Given the description of an element on the screen output the (x, y) to click on. 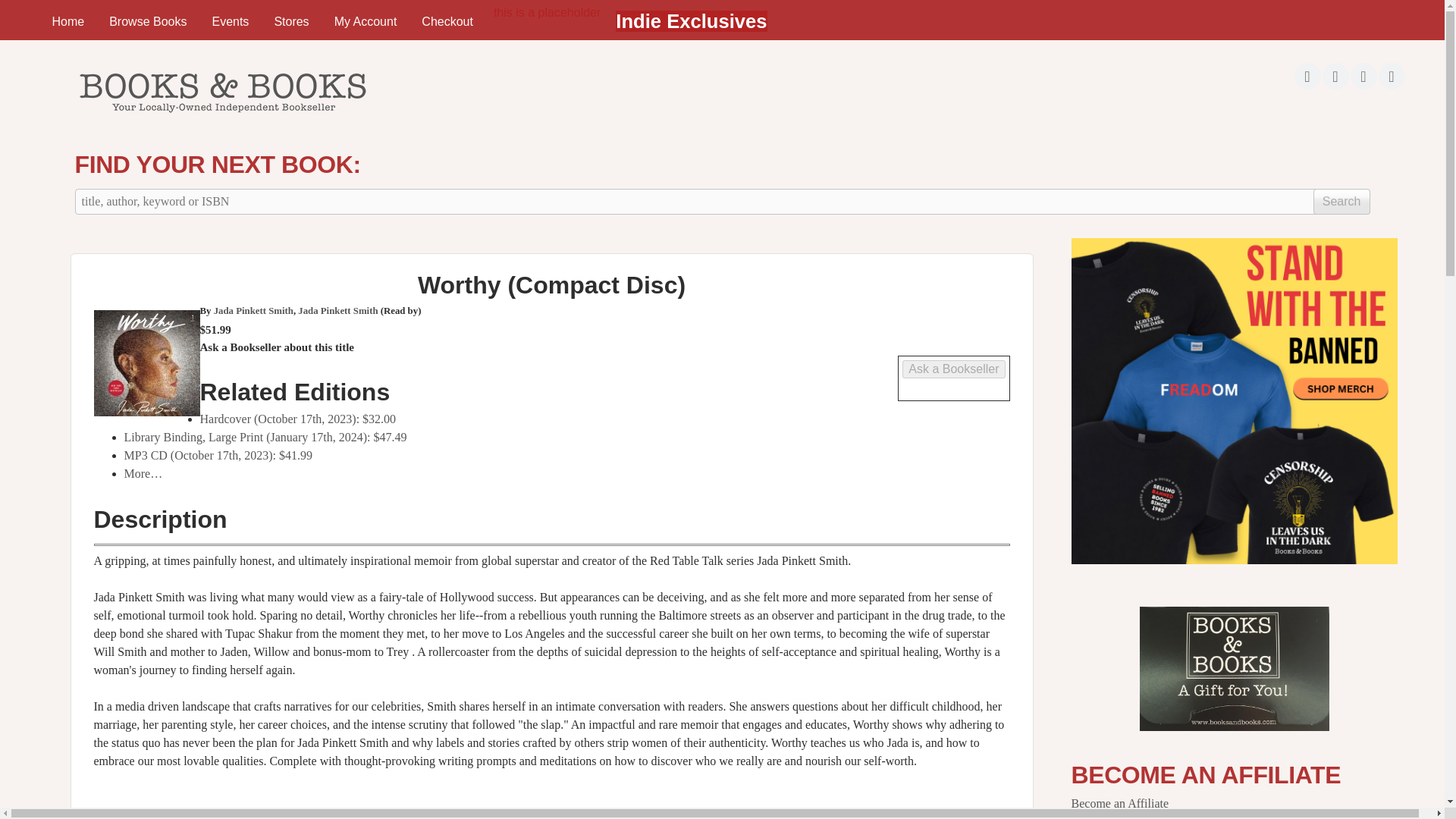
Enter the terms you wish to search for. (722, 201)
Home page (220, 116)
Become an Affiliate (1119, 802)
Search (1341, 201)
Events (229, 22)
Search (1341, 201)
Ask a Bookseller (953, 369)
Indie Exclusives (691, 20)
Checkout (446, 22)
Home (67, 22)
